Given the description of an element on the screen output the (x, y) to click on. 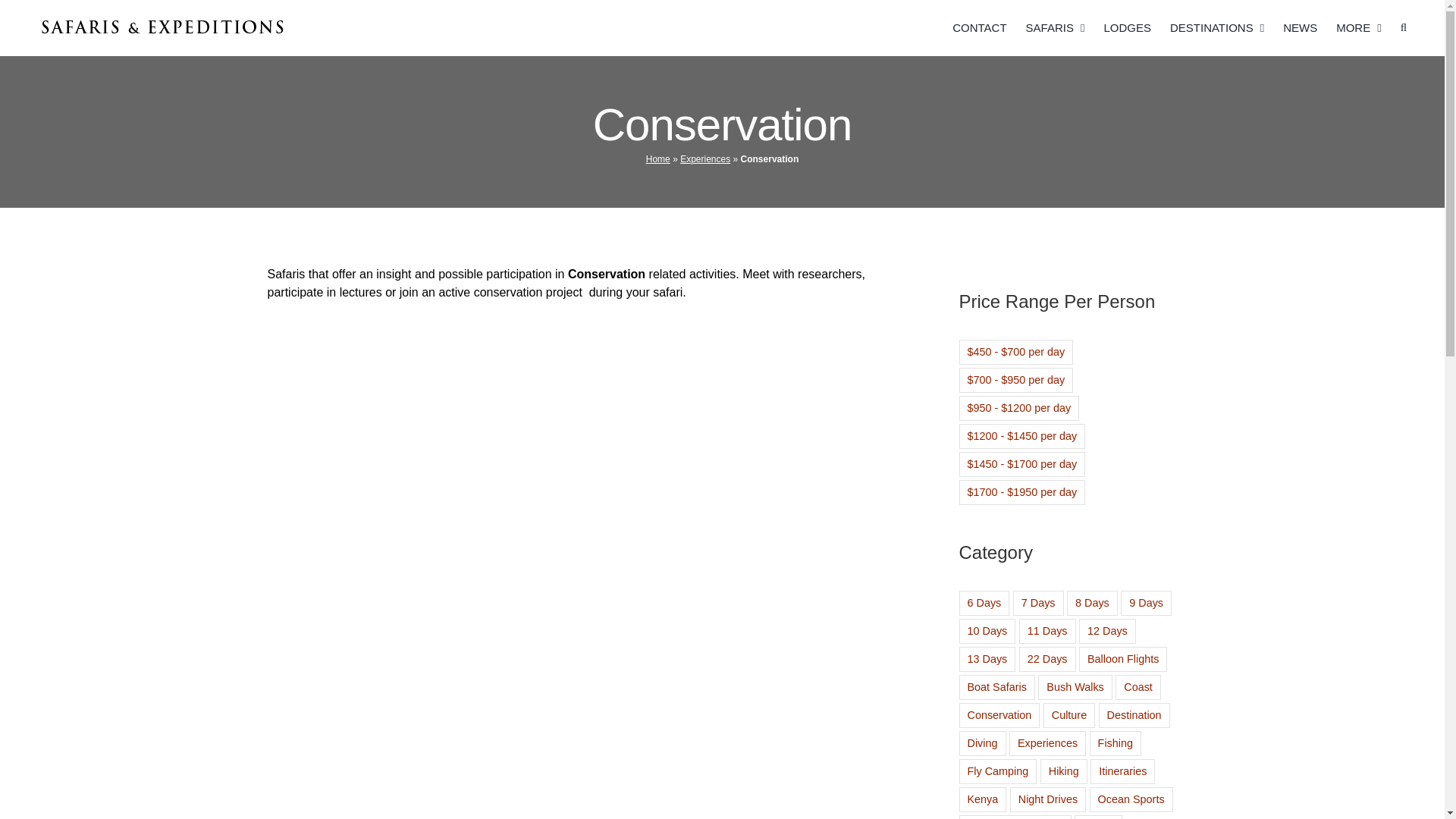
SAFARIS (1055, 27)
Contact Form (979, 27)
Sample Safaris (1055, 27)
CONTACT (979, 27)
DESTINATIONS (1216, 27)
